Given the description of an element on the screen output the (x, y) to click on. 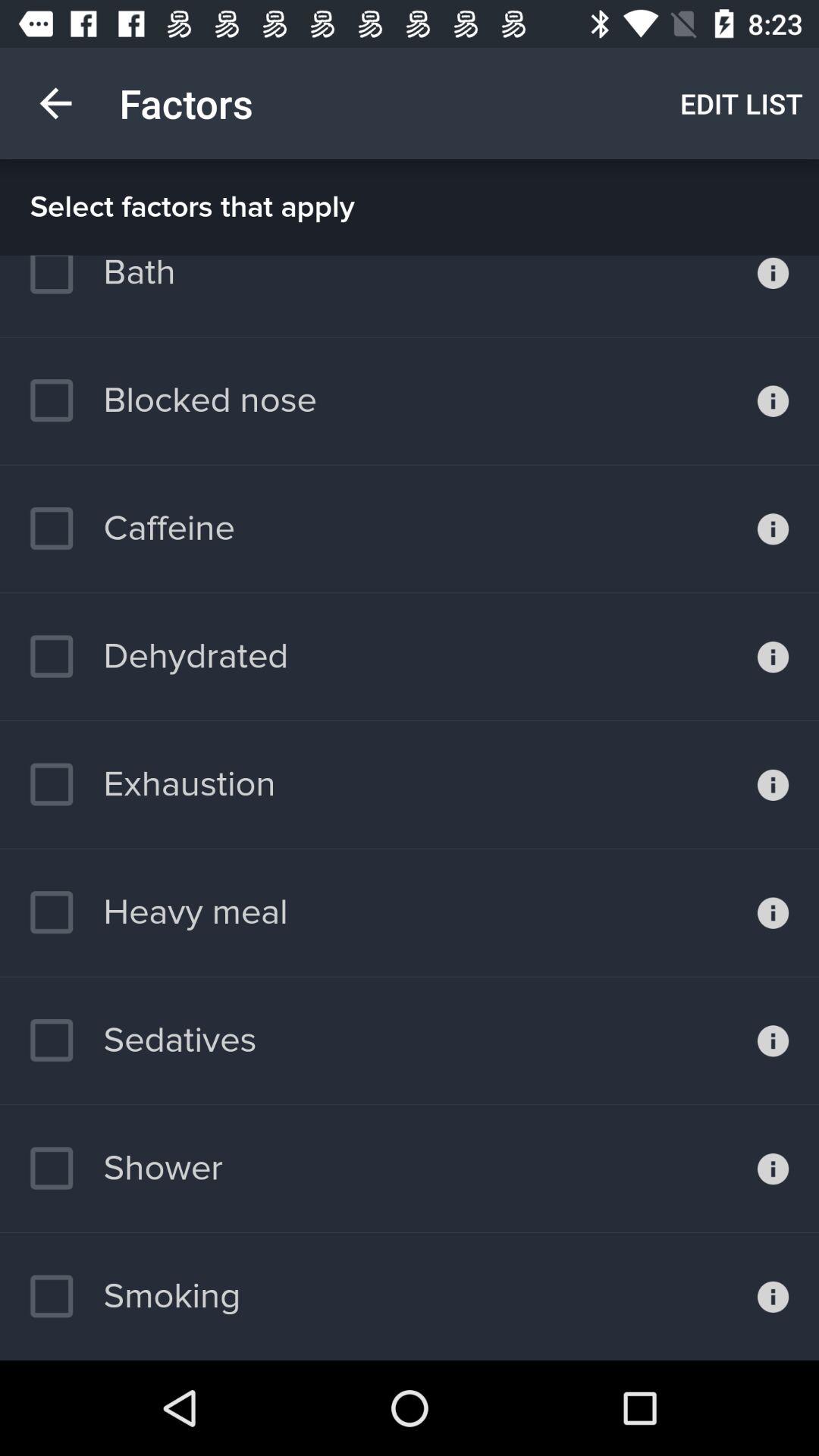
turn off item above the caffeine item (173, 400)
